Given the description of an element on the screen output the (x, y) to click on. 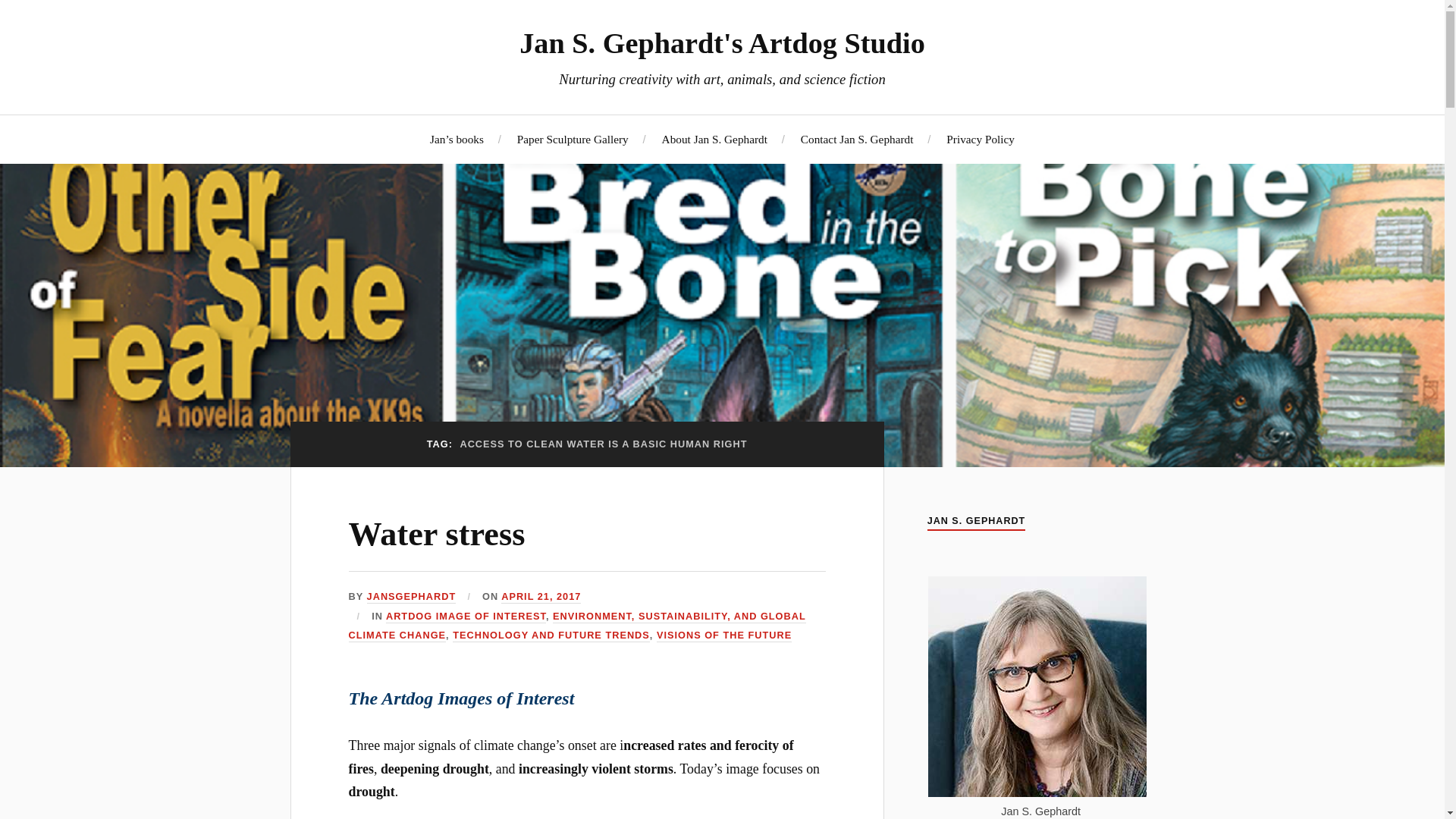
ENVIRONMENT, SUSTAINABILITY, AND GLOBAL CLIMATE CHANGE (577, 626)
Jan S. Gephardt's Artdog Studio (721, 42)
Privacy Policy (980, 138)
TECHNOLOGY AND FUTURE TRENDS (550, 635)
About Jan S. Gephardt (714, 138)
ARTDOG IMAGE OF INTEREST (465, 616)
JANSGEPHARDT (411, 596)
VISIONS OF THE FUTURE (724, 635)
APRIL 21, 2017 (540, 596)
Paper Sculpture Gallery (572, 138)
